Given the description of an element on the screen output the (x, y) to click on. 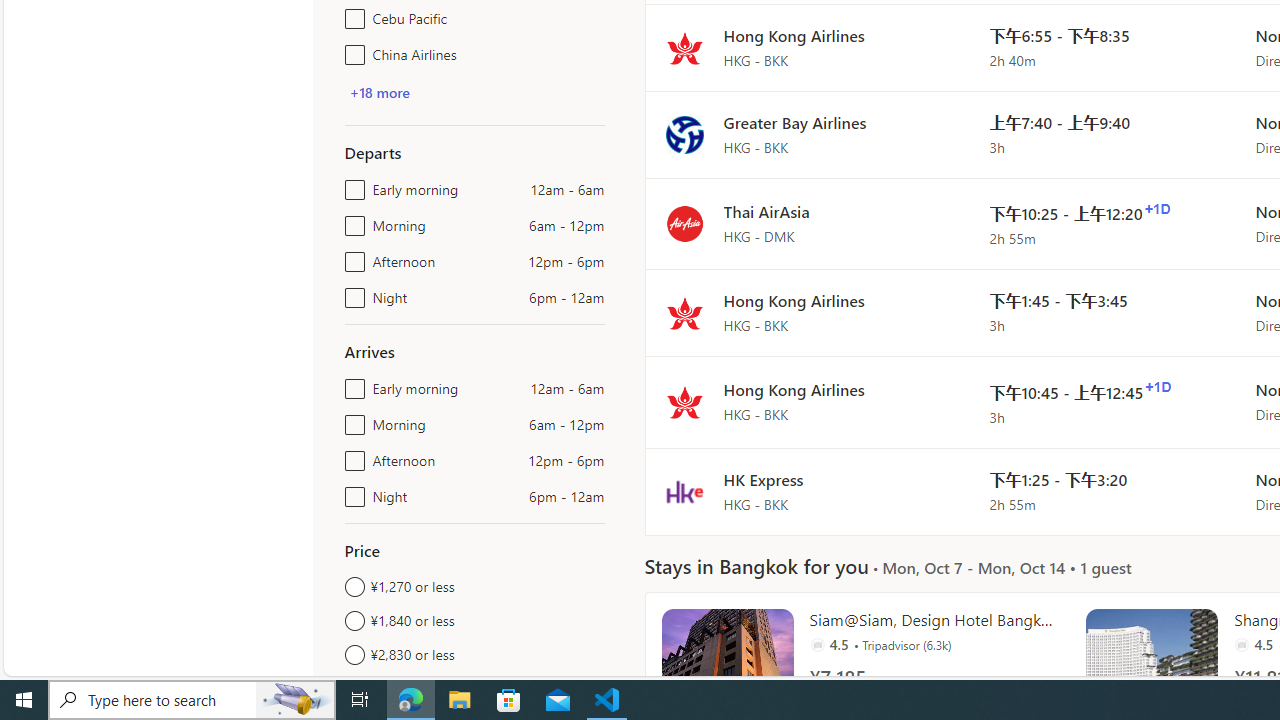
Morning6am - 12pm (351, 420)
Cebu Pacific (351, 14)
+18 more (379, 92)
Any price (474, 688)
Night6pm - 12am (351, 492)
China Airlines (351, 50)
Flight logo (684, 491)
Afternoon12pm - 6pm (351, 456)
Tripadvisor (1241, 644)
Early morning12am - 6am (351, 384)
